Given the description of an element on the screen output the (x, y) to click on. 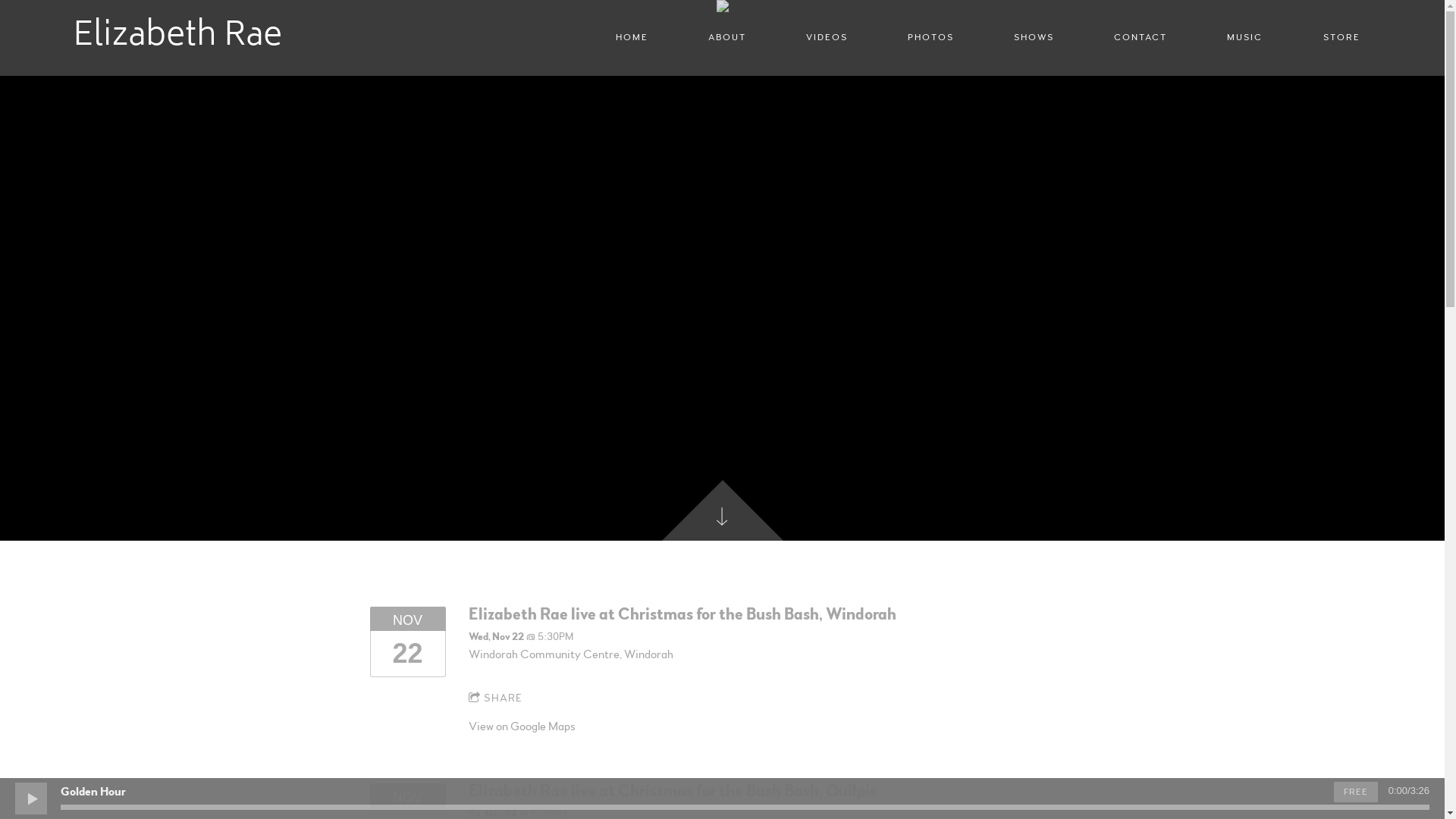
Play Element type: hover (30, 797)
Elizabeth Rae live at Christmas for the Bush Bash, Quilpie Element type: text (673, 790)
PHOTOS Element type: text (931, 37)
SHARE Element type: text (495, 698)
SHOWS Element type: text (1034, 37)
VIDEOS Element type: text (826, 37)
HOME Element type: text (631, 37)
Elizabeth Rae Element type: text (177, 37)
View on Google Maps Element type: text (521, 726)
ABOUT Element type: text (726, 37)
STORE Element type: text (1341, 37)
FREE Element type: text (1355, 791)
Elizabeth Rae live at Christmas for the Bush Bash, Windorah Element type: text (682, 613)
Windorah Community Centre, Windorah Element type: text (570, 654)
MUSIC Element type: text (1244, 37)
CONTACT Element type: text (1140, 37)
